Given the description of an element on the screen output the (x, y) to click on. 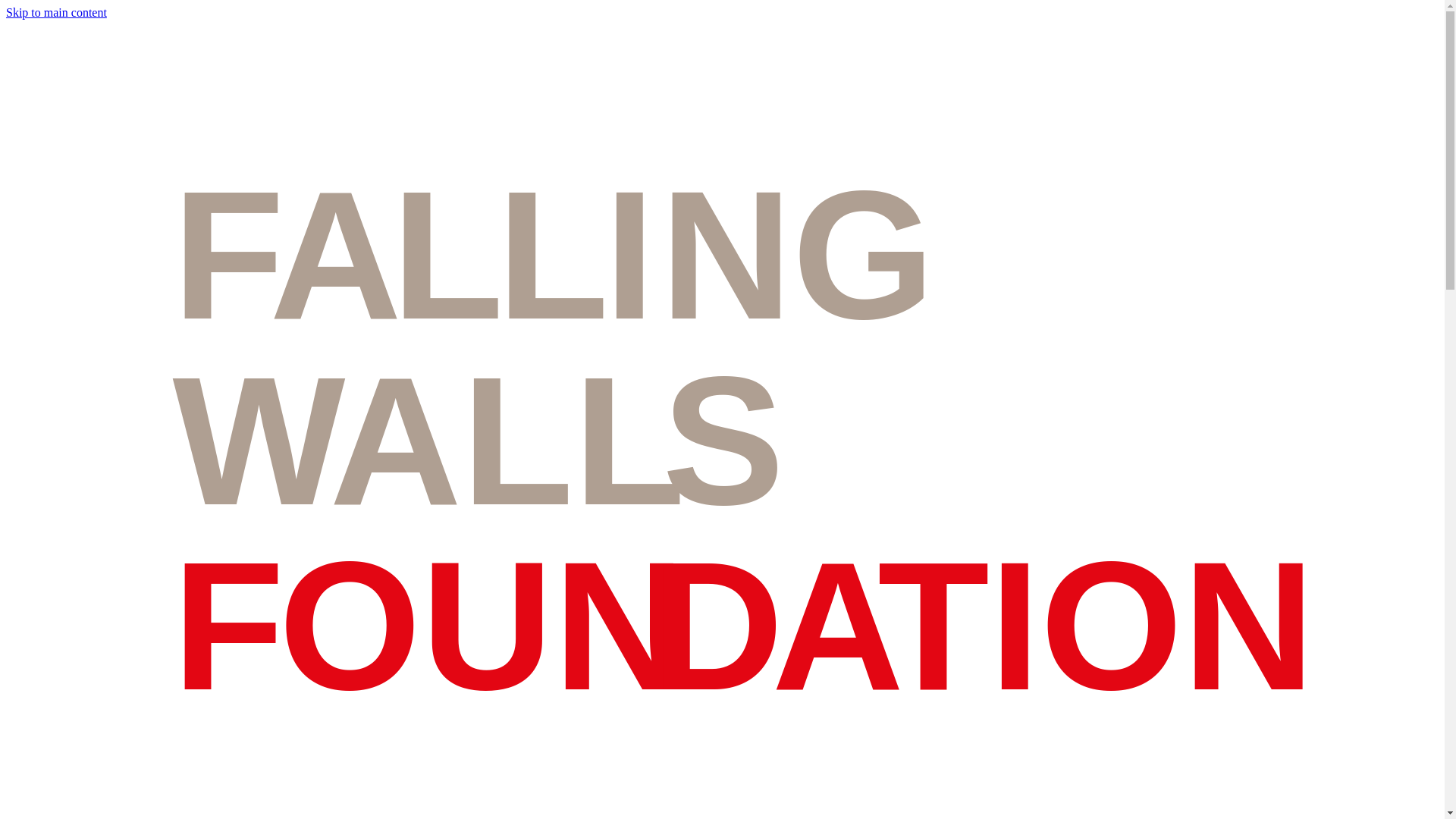
Skip to main content (55, 11)
